Given the description of an element on the screen output the (x, y) to click on. 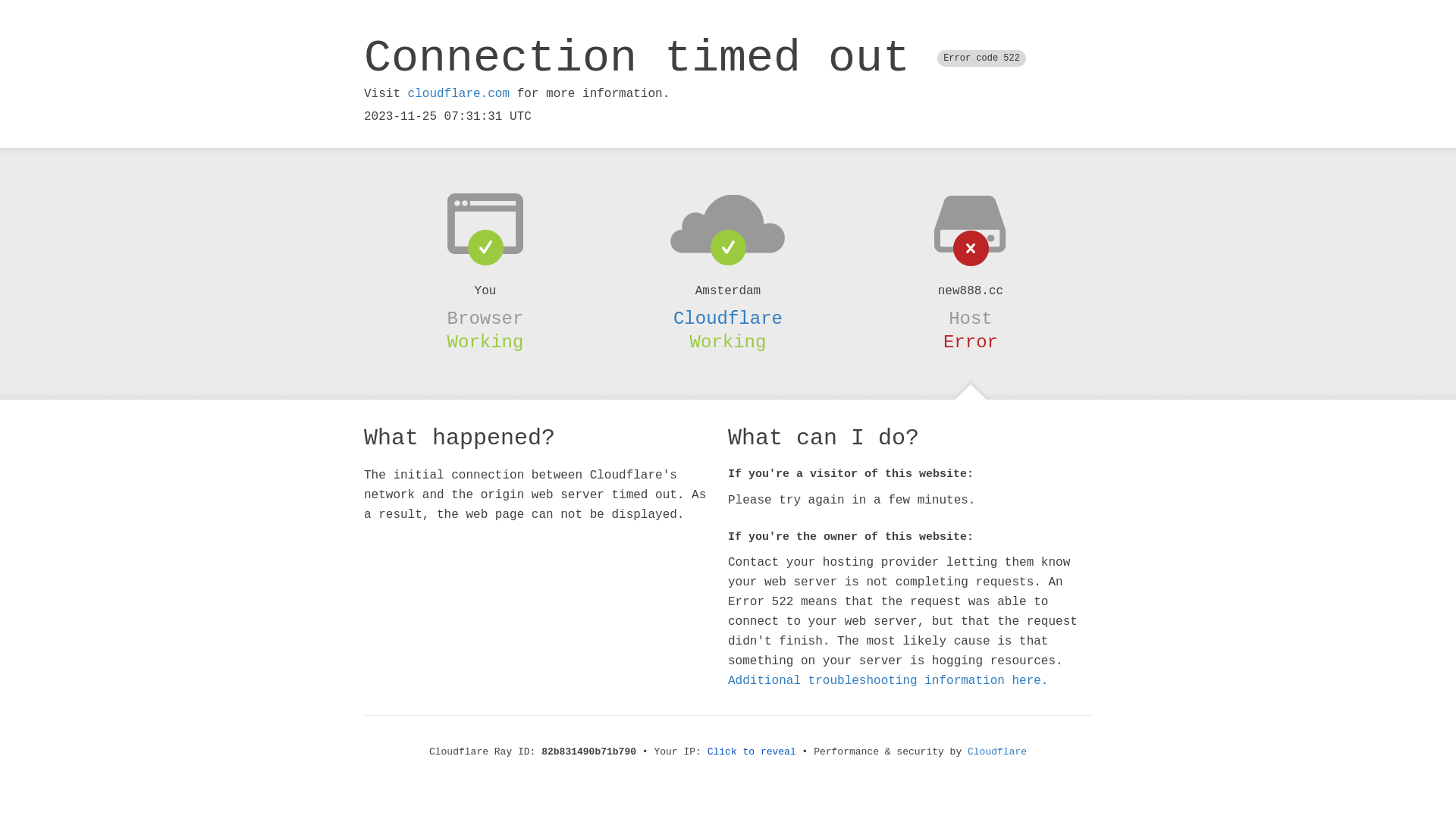
Click to reveal Element type: text (751, 751)
Cloudflare Element type: text (996, 751)
Additional troubleshooting information here. Element type: text (888, 680)
Cloudflare Element type: text (727, 318)
cloudflare.com Element type: text (458, 93)
